Given the description of an element on the screen output the (x, y) to click on. 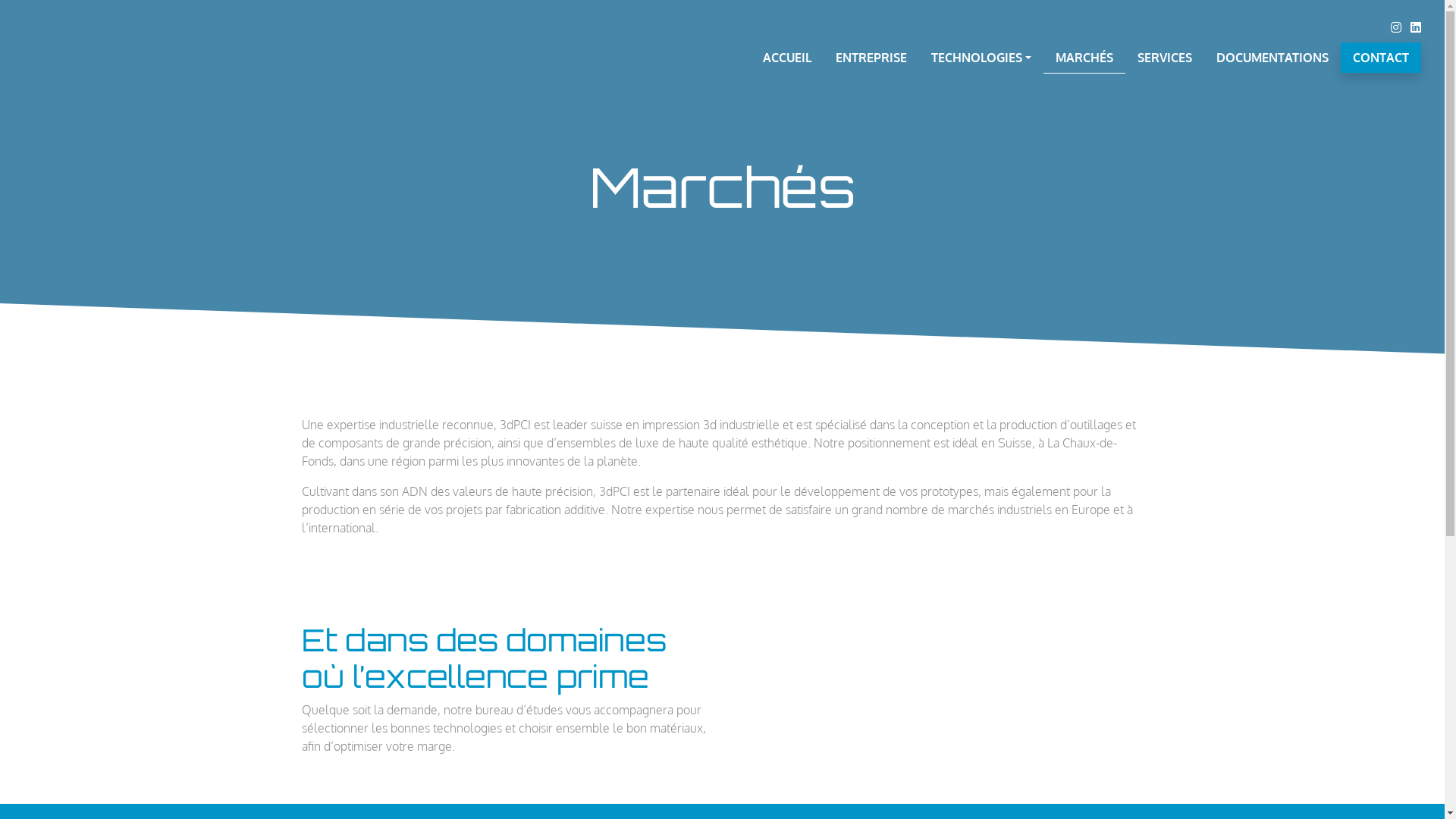
DOCUMENTATIONS Element type: text (1272, 57)
ACCUEIL Element type: text (786, 57)
Instagram Element type: hover (1395, 27)
TECHNOLOGIES Element type: text (981, 57)
SERVICES Element type: text (1164, 57)
CONTACT Element type: text (1380, 57)
LinkedIn Element type: hover (1415, 27)
3dPCI Element type: text (127, 45)
ENTREPRISE Element type: text (871, 57)
